Given the description of an element on the screen output the (x, y) to click on. 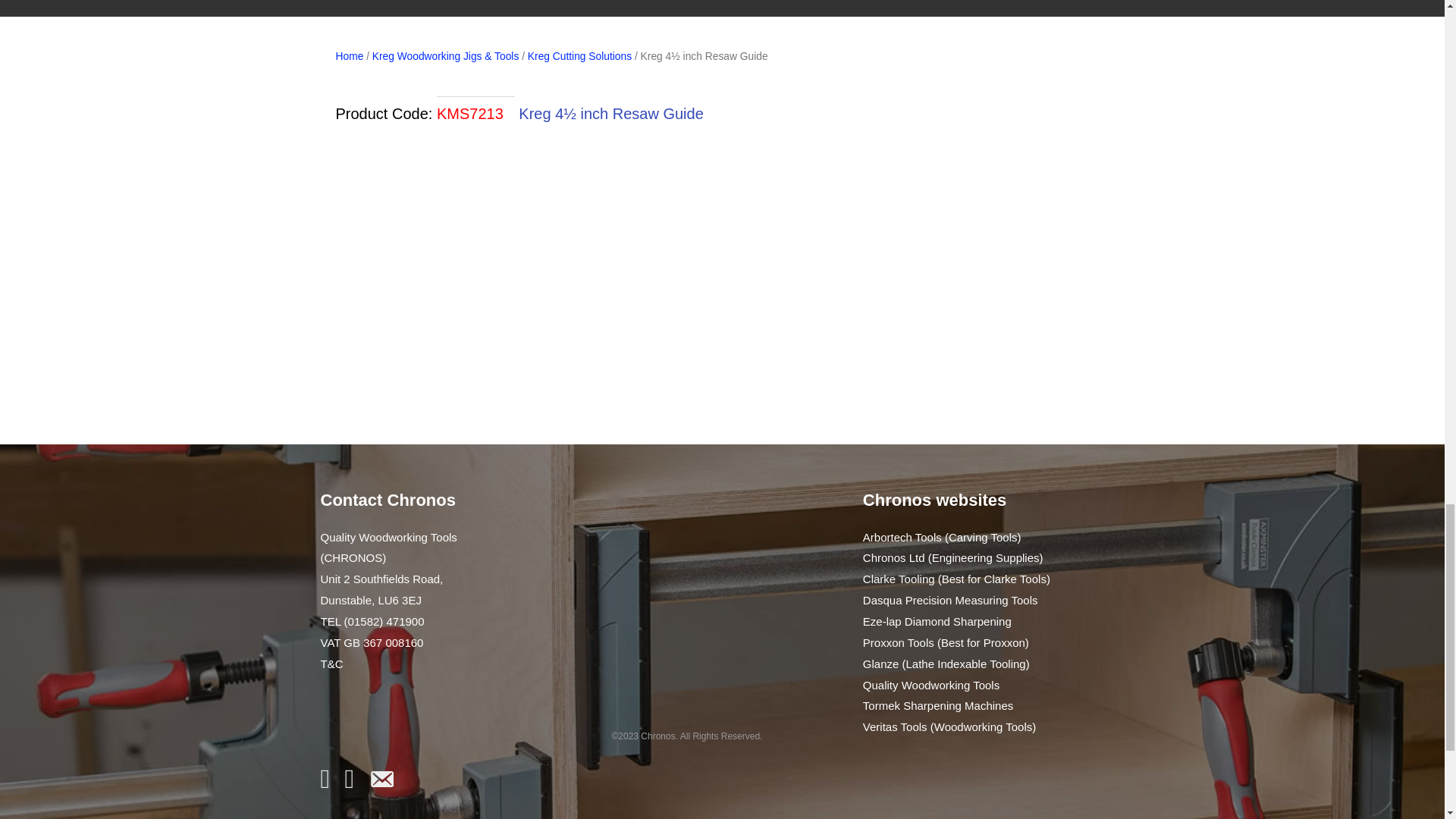
Payments by Sage Pay (415, 718)
